Given the description of an element on the screen output the (x, y) to click on. 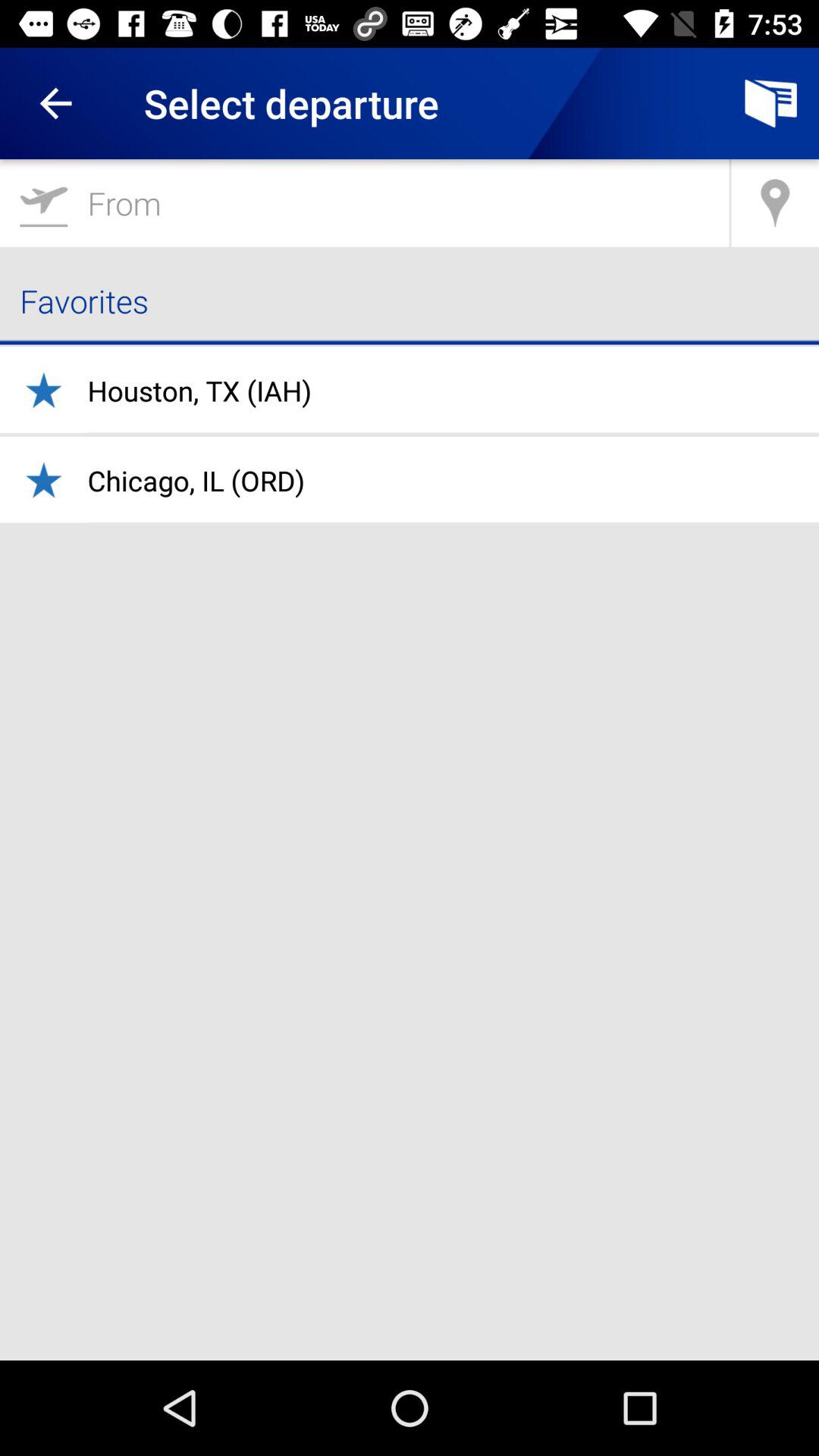
scroll to chicago, il (ord) item (195, 480)
